Given the description of an element on the screen output the (x, y) to click on. 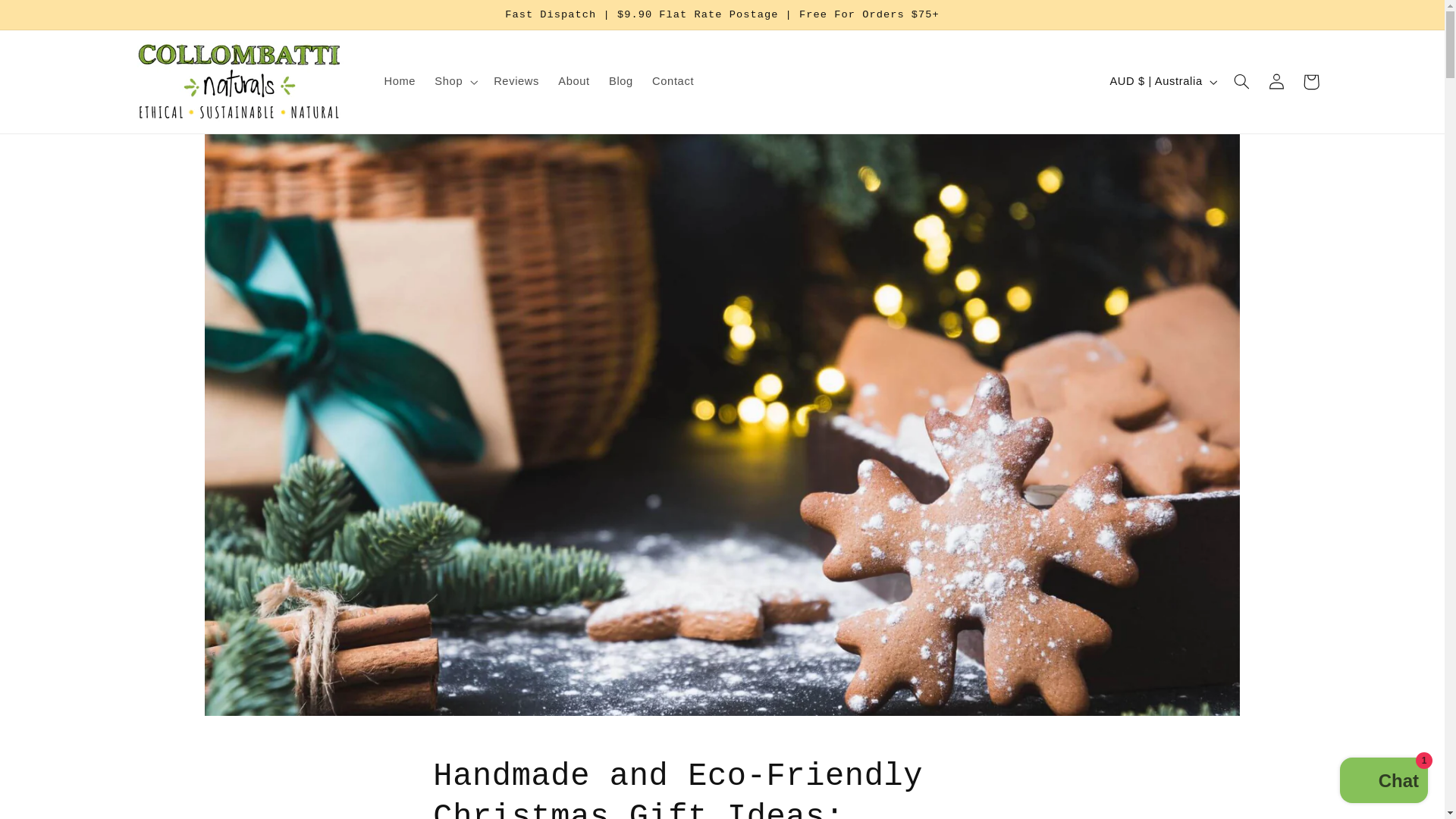
Skip to content (48, 18)
Home (399, 81)
Shopify online store chat (1383, 781)
